Given the description of an element on the screen output the (x, y) to click on. 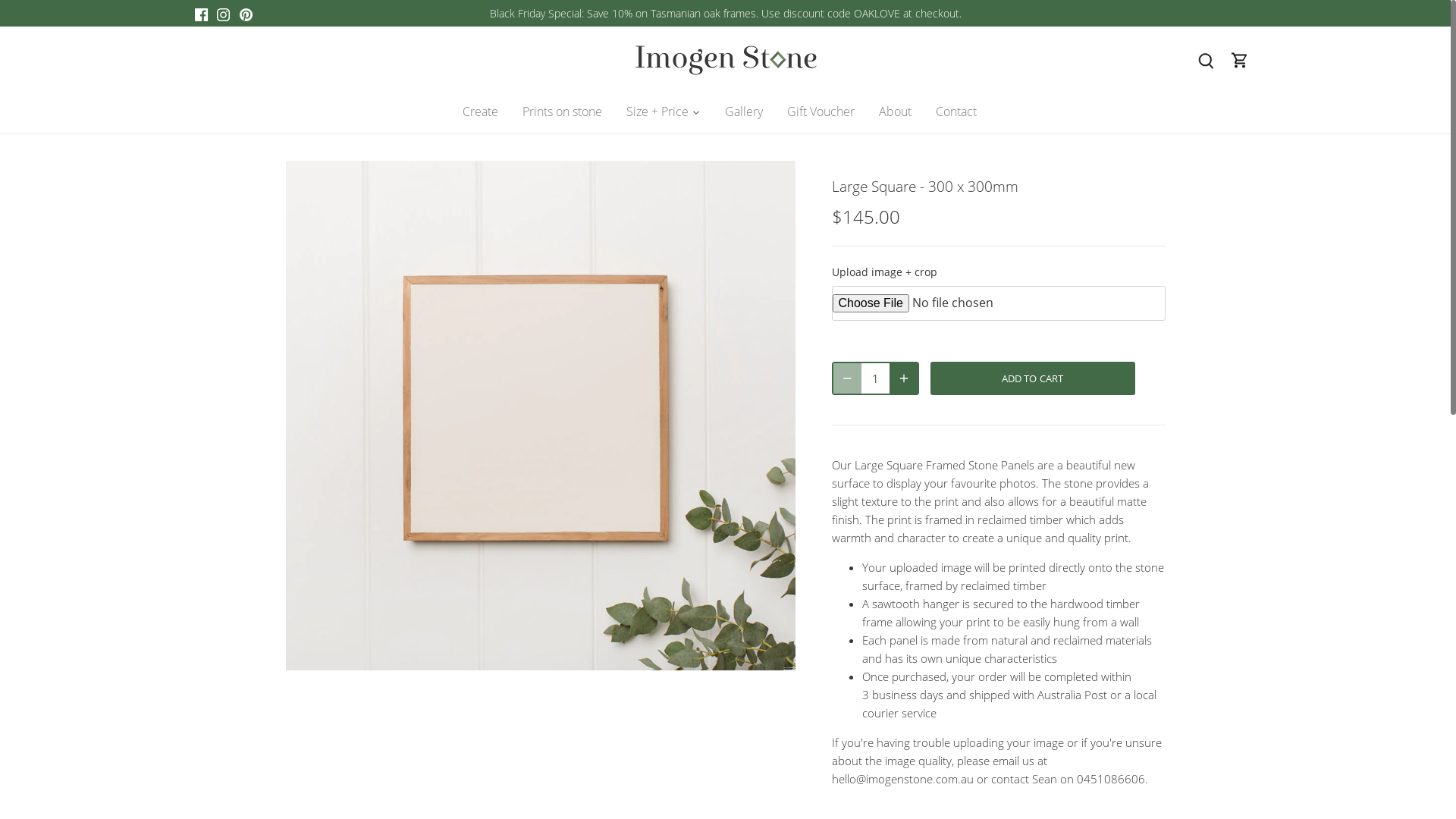
Size + Price Element type: text (657, 112)
Gift Voucher Element type: text (820, 112)
Create Element type: text (486, 112)
Go to cart Element type: hover (1239, 59)
Contact Element type: text (955, 112)
Facebook Element type: text (200, 13)
Prints on stone Element type: text (561, 112)
ADD TO CART Element type: text (1031, 378)
Gallery Element type: text (743, 112)
Pinterest Element type: text (245, 13)
About Element type: text (894, 112)
Upload image + crop Element type: text (997, 271)
Instagram Element type: text (222, 13)
